Given the description of an element on the screen output the (x, y) to click on. 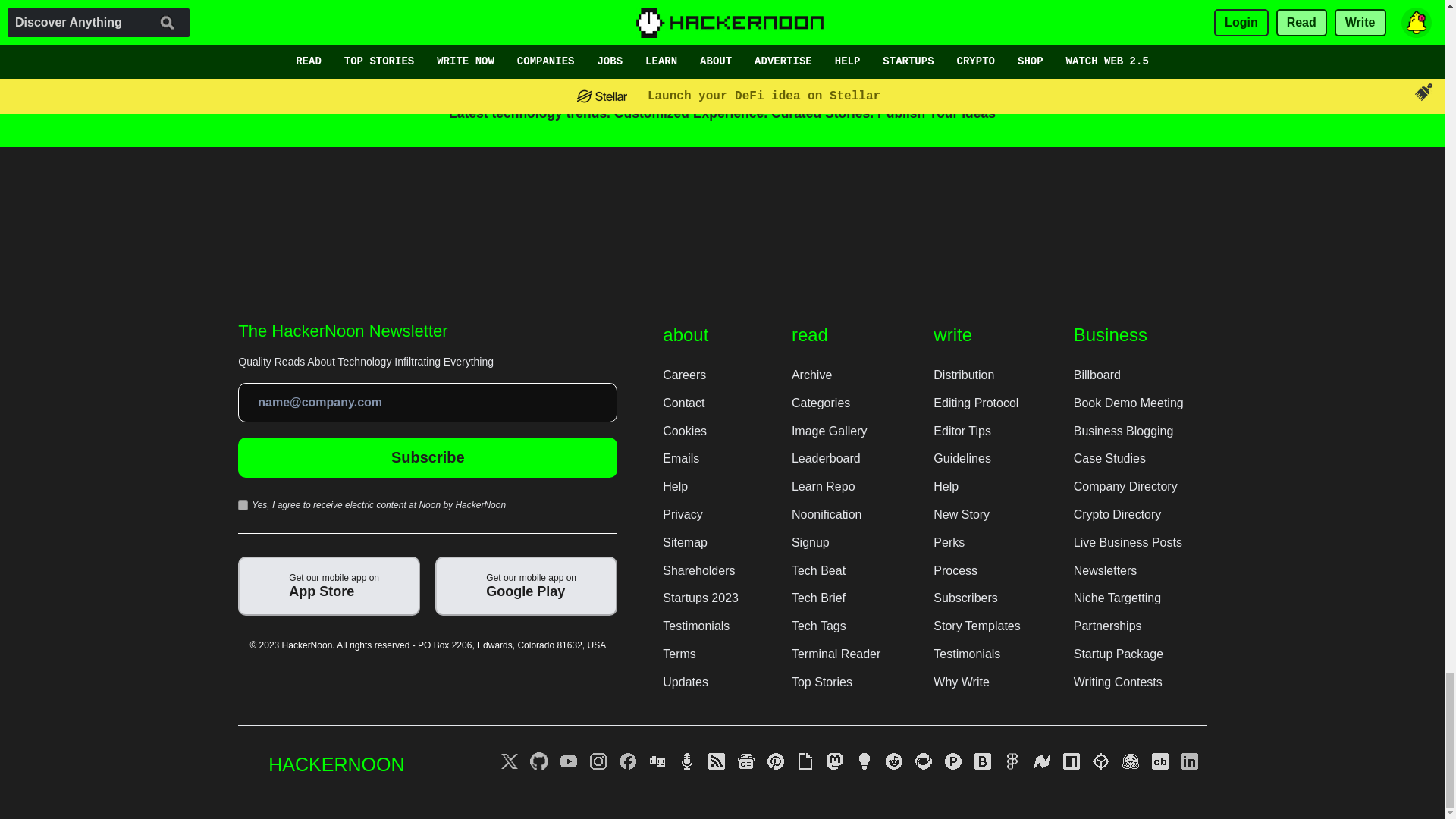
on (242, 505)
